Given the description of an element on the screen output the (x, y) to click on. 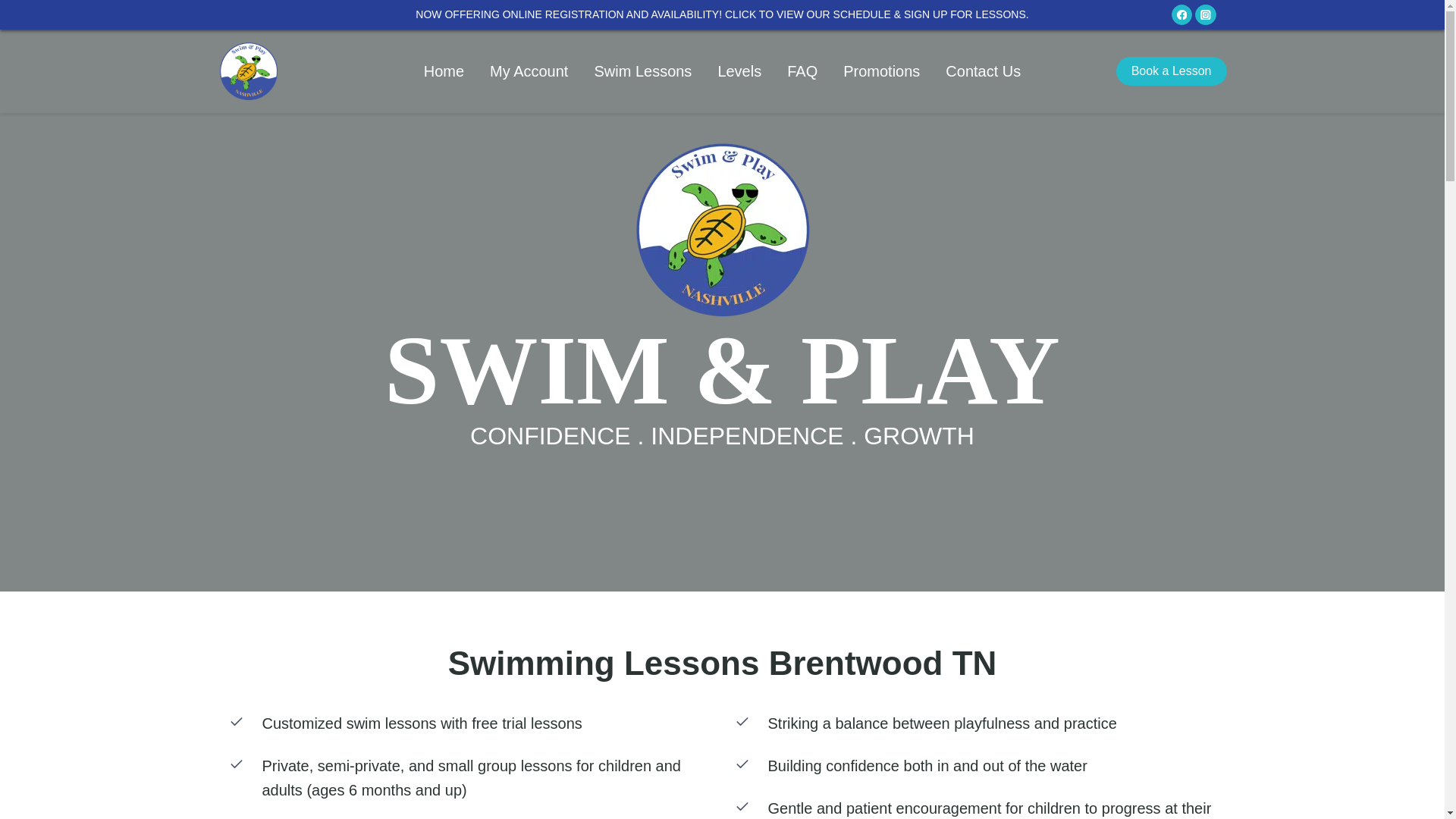
Swim Lessons (642, 70)
Book a Lesson (1171, 70)
Home (443, 70)
Contact Us (983, 70)
FAQ (801, 70)
Promotions (881, 70)
My Account (528, 70)
Levels (739, 70)
